Given the description of an element on the screen output the (x, y) to click on. 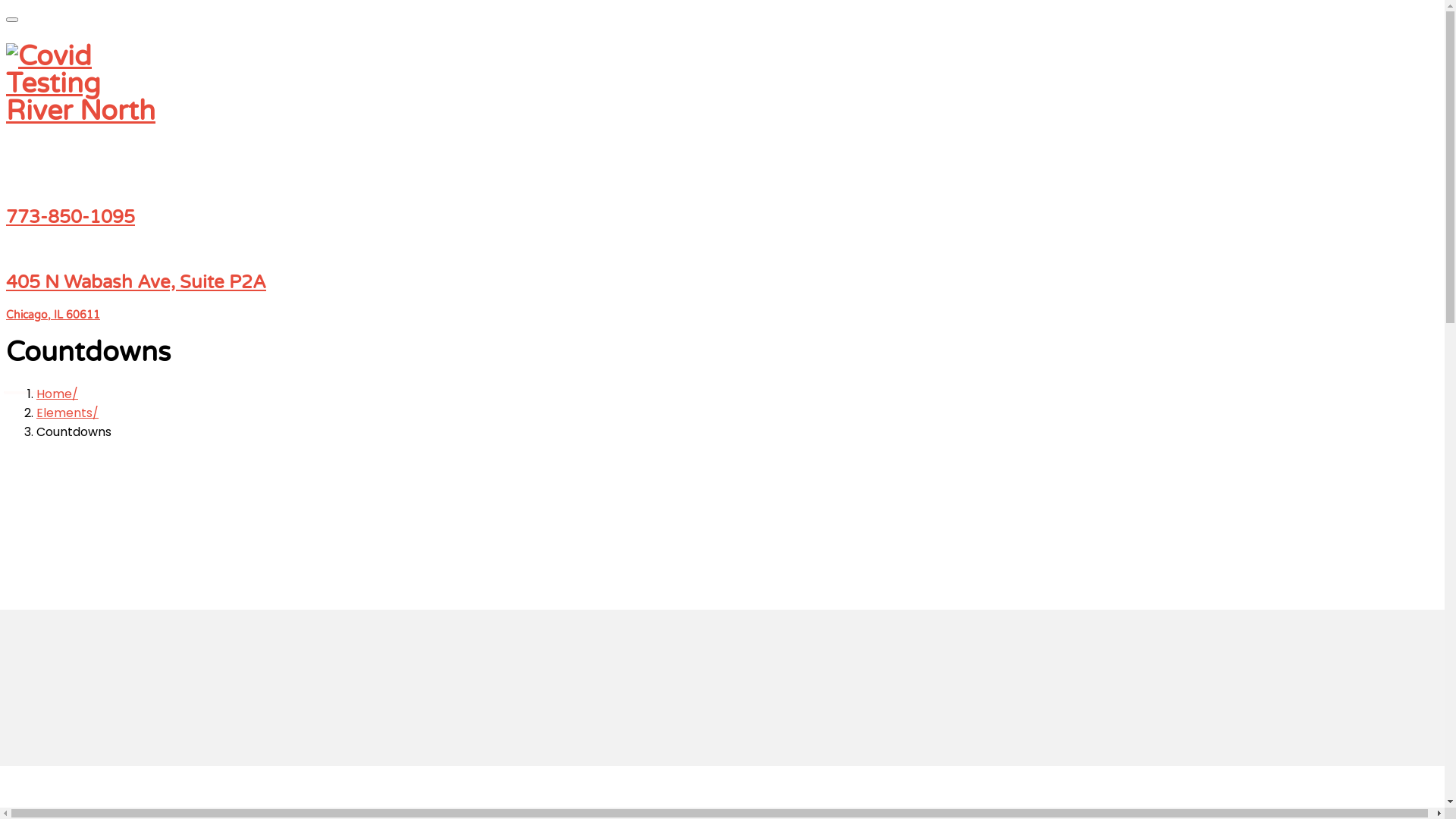
Elements Element type: text (67, 412)
405 N Wabash Ave, Suite P2A
Chicago, IL 60611 Element type: text (722, 296)
Home Element type: text (57, 393)
